Given the description of an element on the screen output the (x, y) to click on. 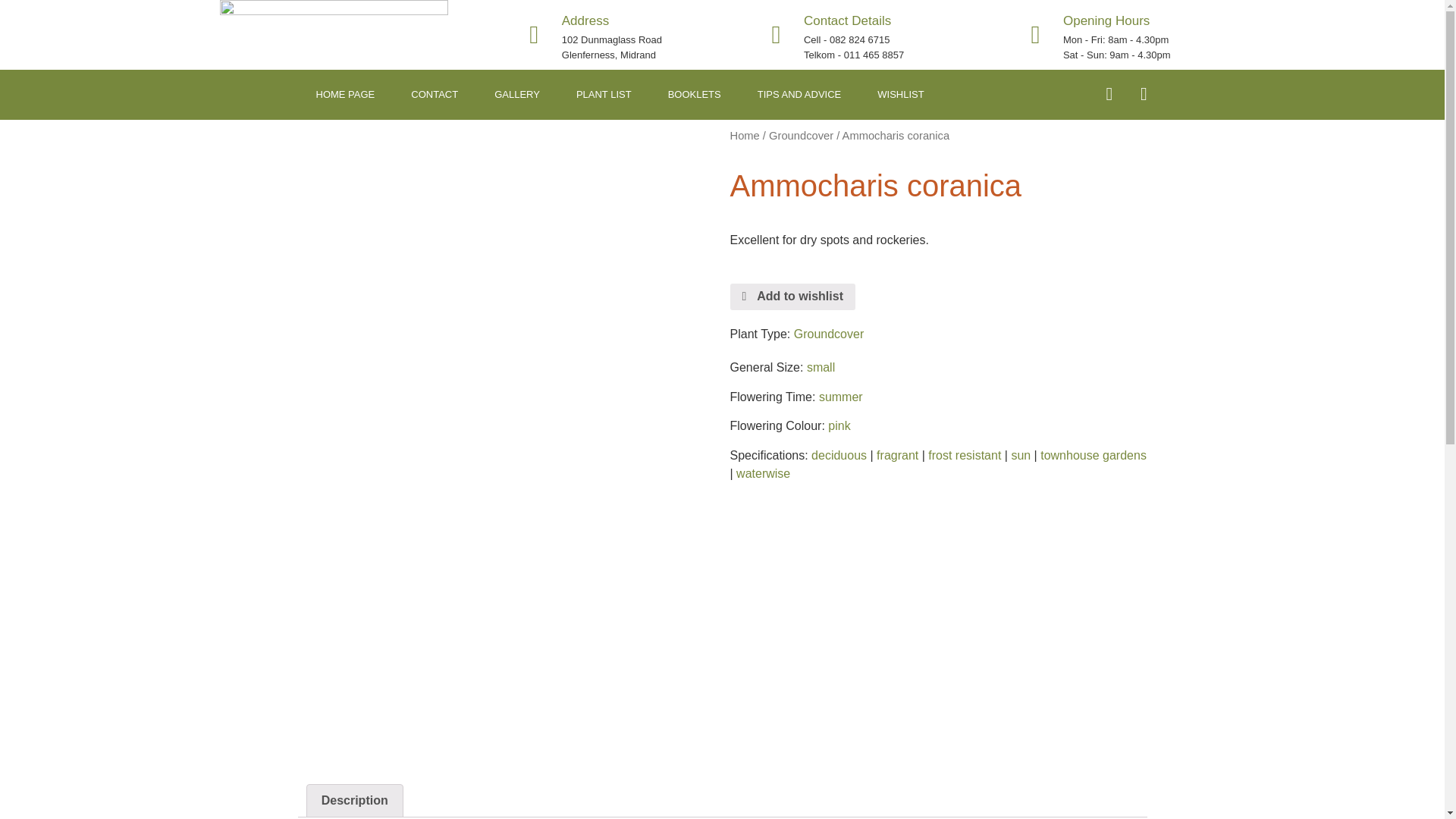
HOME PAGE (345, 94)
small (820, 367)
Add to wishlist (791, 297)
Groundcover (800, 135)
WISHLIST (900, 94)
GALLERY (516, 94)
pink (839, 425)
Contact Details (847, 20)
TIPS AND ADVICE (799, 94)
summer (840, 396)
frost resistant (964, 454)
CONTACT (434, 94)
deciduous (838, 454)
fragrant (897, 454)
PLANT LIST (603, 94)
